Given the description of an element on the screen output the (x, y) to click on. 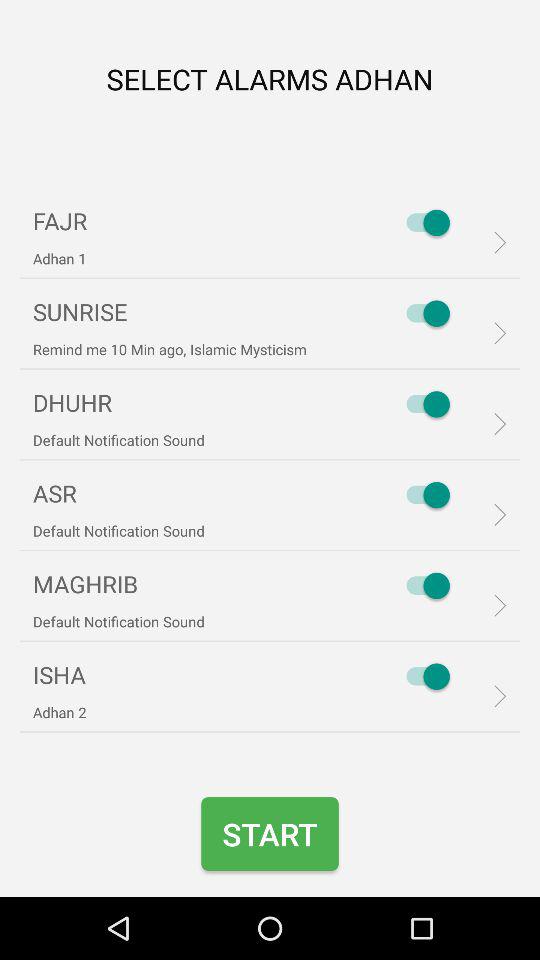
click the right arrow link right to fajr adhan 1 (494, 243)
click the 4th switch button from the top of the page (423, 494)
click the last switch button from at bottom of the page (423, 676)
select the third switch on the right next to the button dhuhr on the web page (423, 404)
click on the last arrow symbol beside isha (494, 696)
select the first switch on the web page (423, 222)
